Given the description of an element on the screen output the (x, y) to click on. 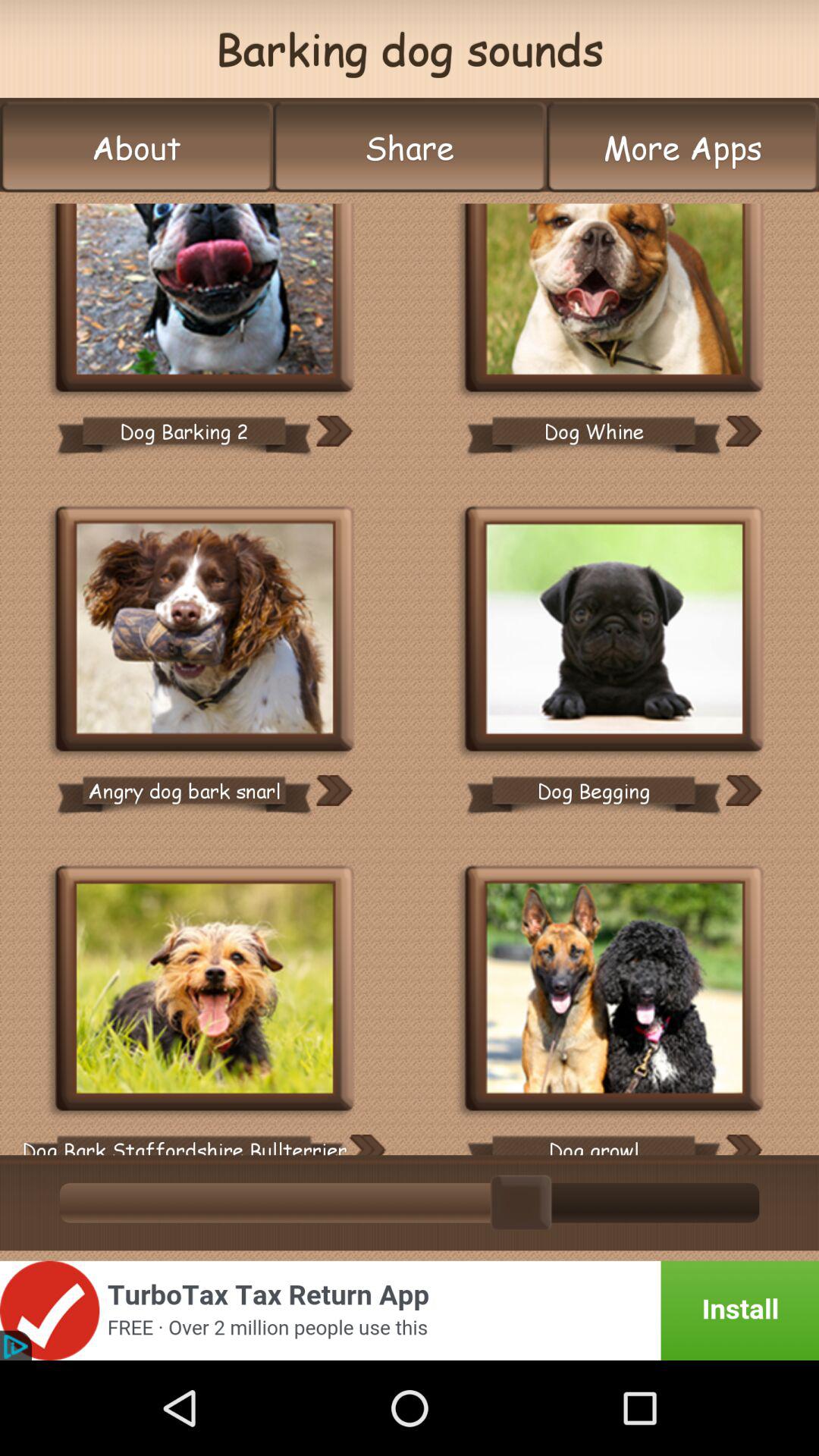
select the dog begging (593, 790)
